Given the description of an element on the screen output the (x, y) to click on. 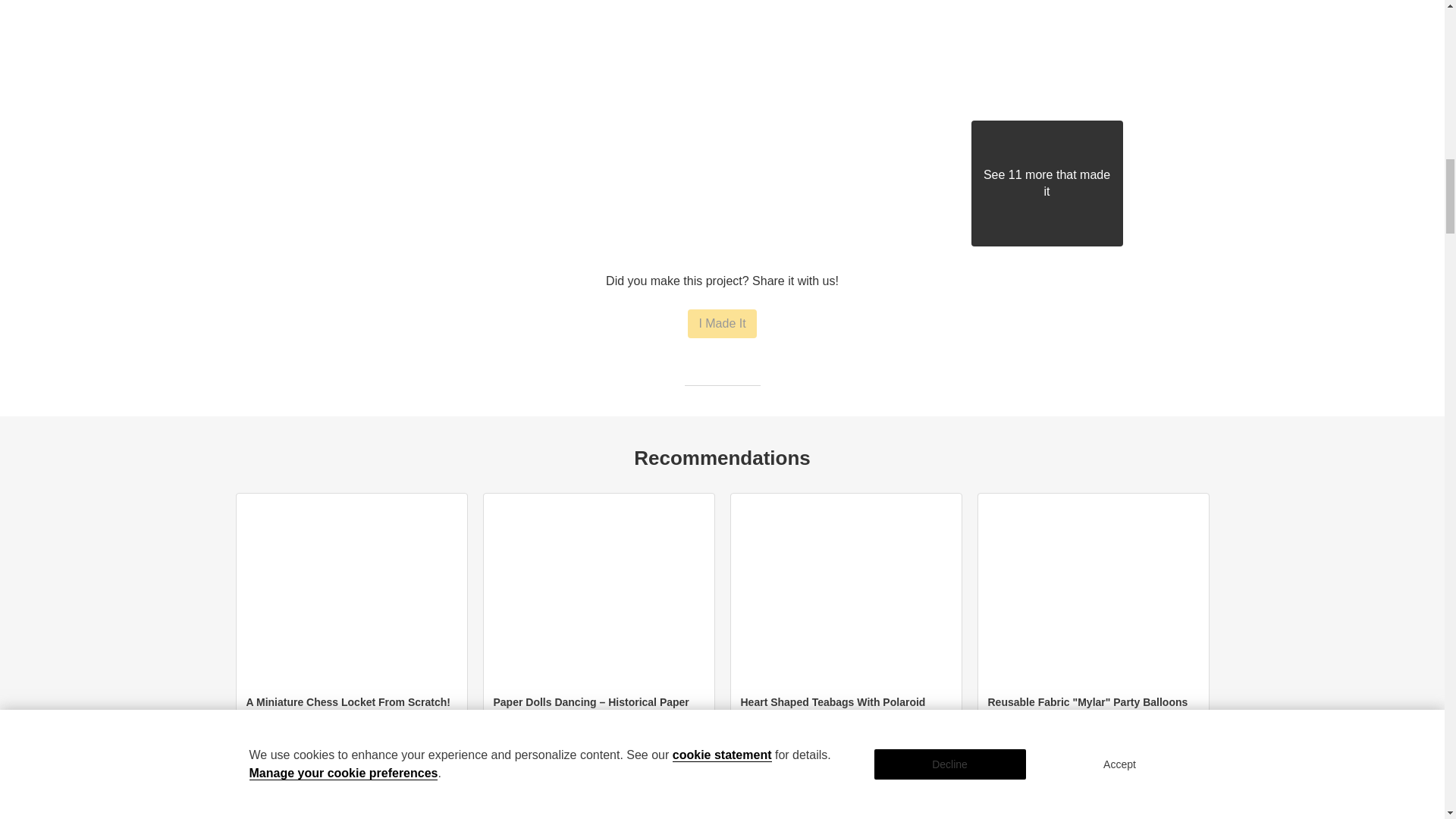
Favorites Count (641, 759)
Views Count (431, 759)
A Miniature Chess Locket From Scratch! (347, 702)
Views Count (1173, 759)
Heart Shaped Teabags With Polaroid Tags (831, 709)
Views Count (678, 759)
I Made It (721, 323)
Favorites Count (395, 759)
Contest Winner (250, 759)
Contest Winner (497, 759)
Favorites Count (889, 759)
Favorites Count (1136, 759)
Contest Winner (991, 759)
Views Count (925, 759)
JGJMatt (277, 717)
